Given the description of an element on the screen output the (x, y) to click on. 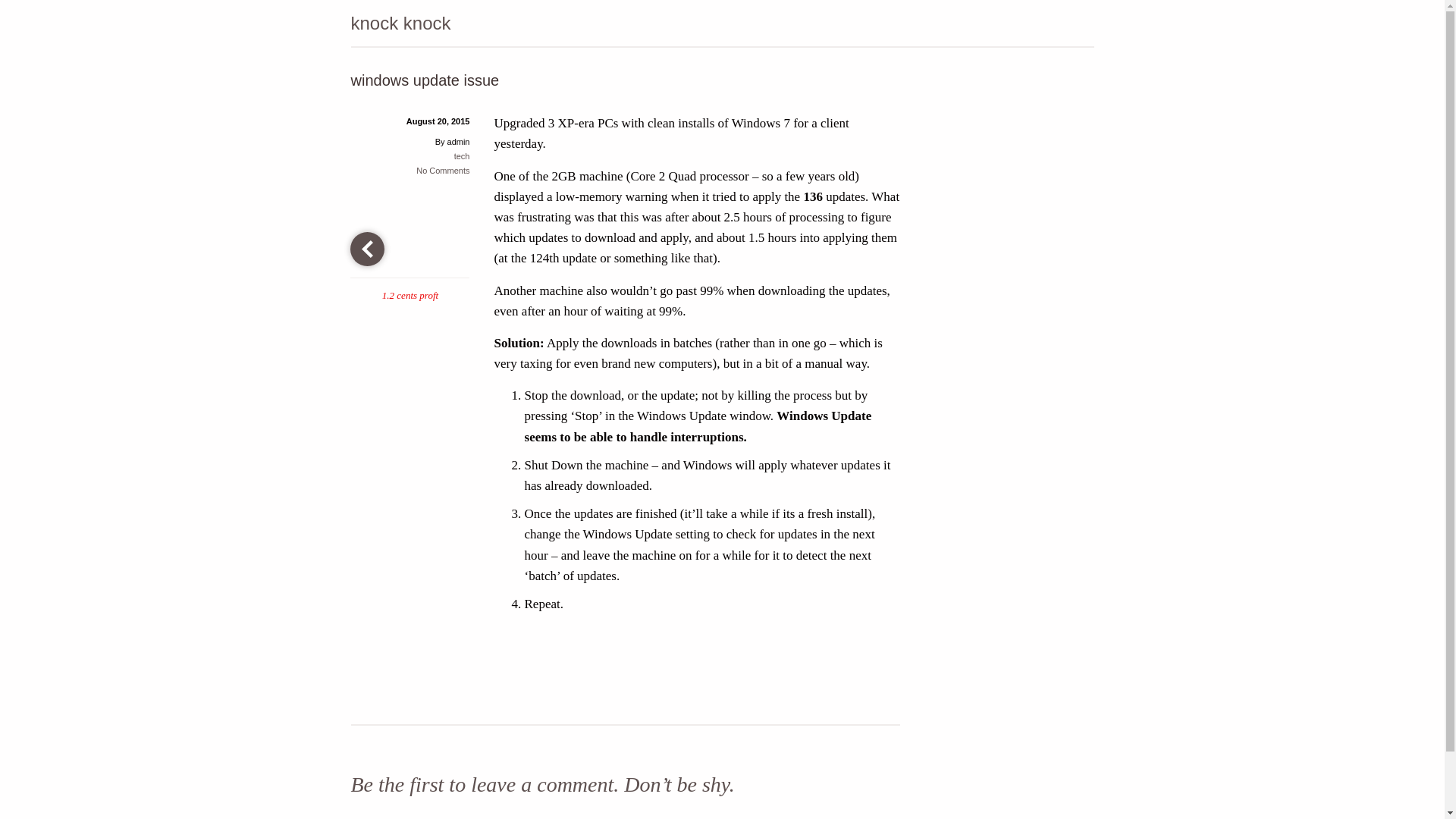
No Comments Element type: text (442, 170)
tech Element type: text (462, 155)
1.2 cents proft
1.2 cents proft Element type: text (409, 266)
knock knock Element type: text (400, 22)
